Given the description of an element on the screen output the (x, y) to click on. 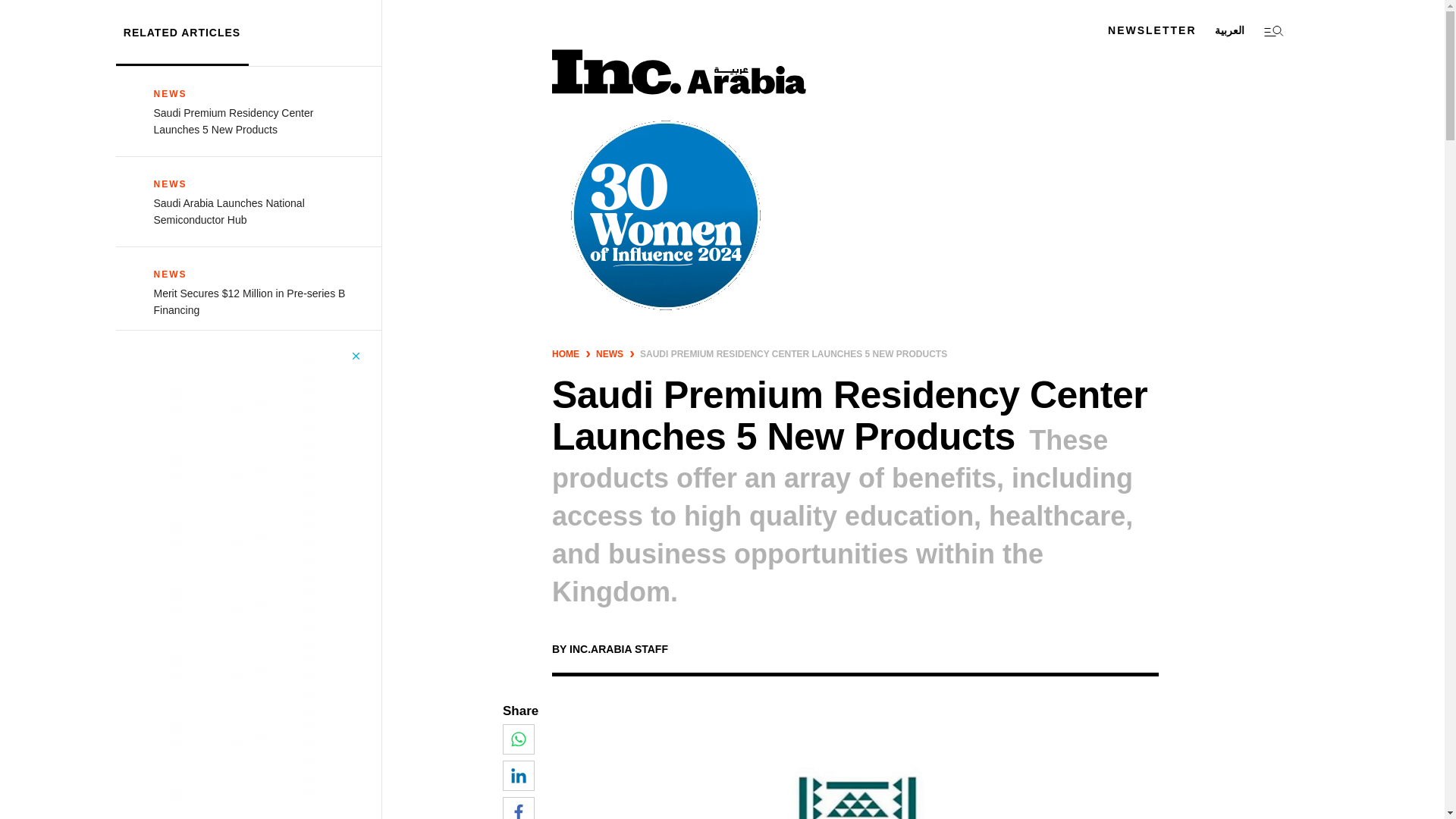
NEWSLETTER (1151, 30)
subscribe to newsletter (1151, 30)
navigation (1273, 30)
